Given the description of an element on the screen output the (x, y) to click on. 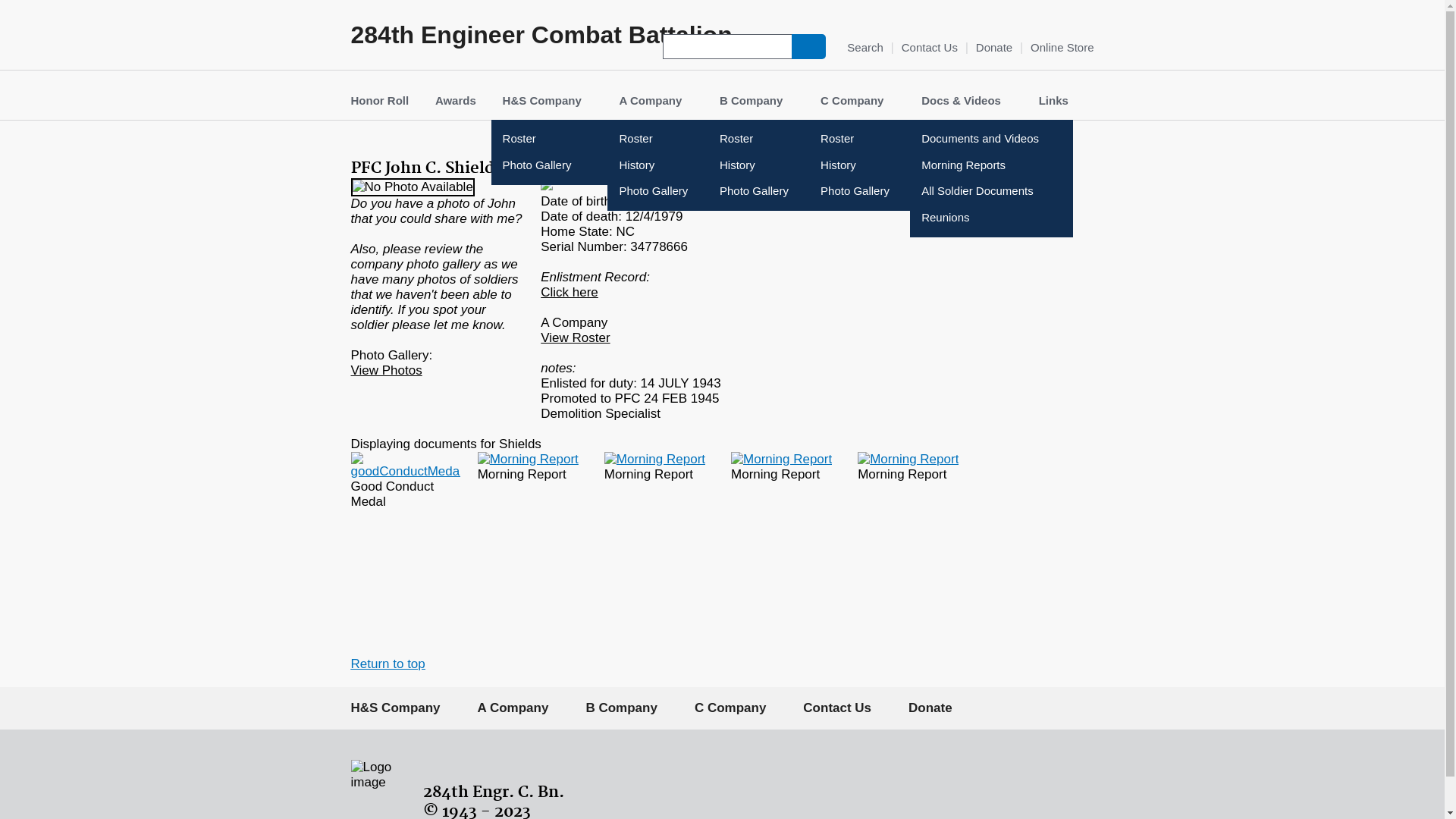
Morning Reports Element type: text (991, 164)
All Soldier Documents Element type: text (991, 190)
Morning Report Element type: hover (527, 458)
H&S Company Element type: text (394, 708)
C Company Element type: text (729, 708)
Search Element type: text (856, 47)
Roster Element type: text (688, 138)
A Company Element type: text (655, 100)
History Element type: text (688, 164)
View Photos Element type: text (385, 370)
Docs & Videos Element type: text (966, 100)
B Company Element type: text (756, 100)
Return to top Element type: text (387, 663)
284th Engineer Combat Battalion Element type: text (540, 34)
Roster Element type: text (890, 138)
Click here Element type: text (569, 292)
Morning Report Element type: hover (781, 458)
Photo Gallery Element type: text (789, 190)
History Element type: text (890, 164)
Honor Roll Element type: text (379, 100)
Good Conduct Medal Element type: hover (404, 471)
Links Element type: text (1053, 100)
Donate Element type: text (993, 47)
Reunions Element type: text (991, 216)
C Company Element type: text (857, 100)
Online Store Element type: text (1061, 47)
Photo Gallery Element type: text (688, 190)
A Company Element type: text (513, 708)
Contact Us Element type: text (929, 47)
Awards Element type: text (455, 100)
Morning Report Element type: hover (654, 458)
H&S Company Element type: text (547, 100)
Roster Element type: text (572, 138)
B Company Element type: text (620, 708)
Documents and Videos Element type: text (991, 138)
View Roster Element type: text (574, 337)
Contact Us Element type: text (837, 708)
History Element type: text (789, 164)
Photo Gallery Element type: text (890, 190)
Roster Element type: text (789, 138)
Photo Gallery Element type: text (572, 164)
Morning Report Element type: hover (907, 458)
Donate Element type: text (930, 708)
